Given the description of an element on the screen output the (x, y) to click on. 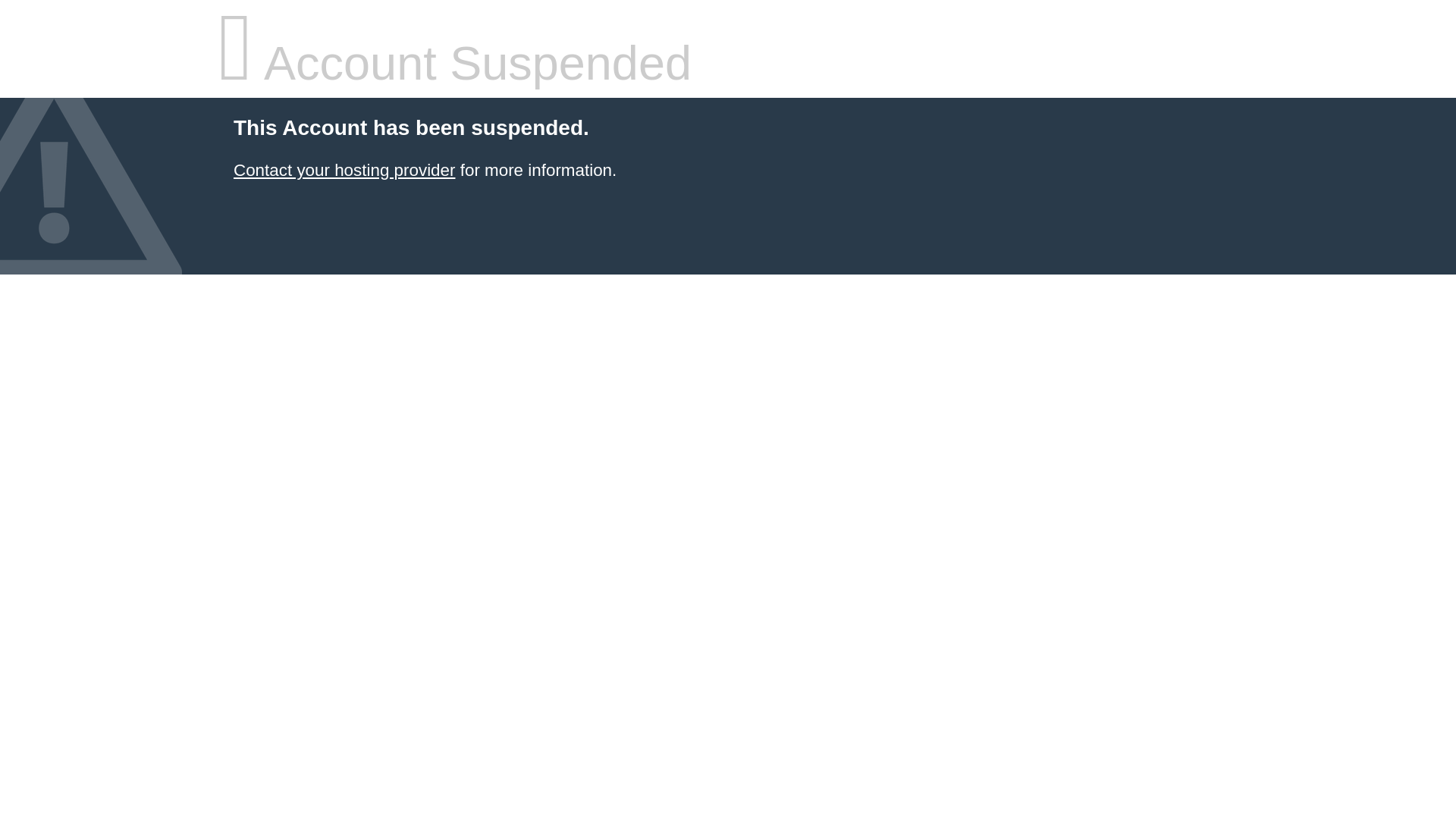
Contact your hosting provider (343, 169)
